Given the description of an element on the screen output the (x, y) to click on. 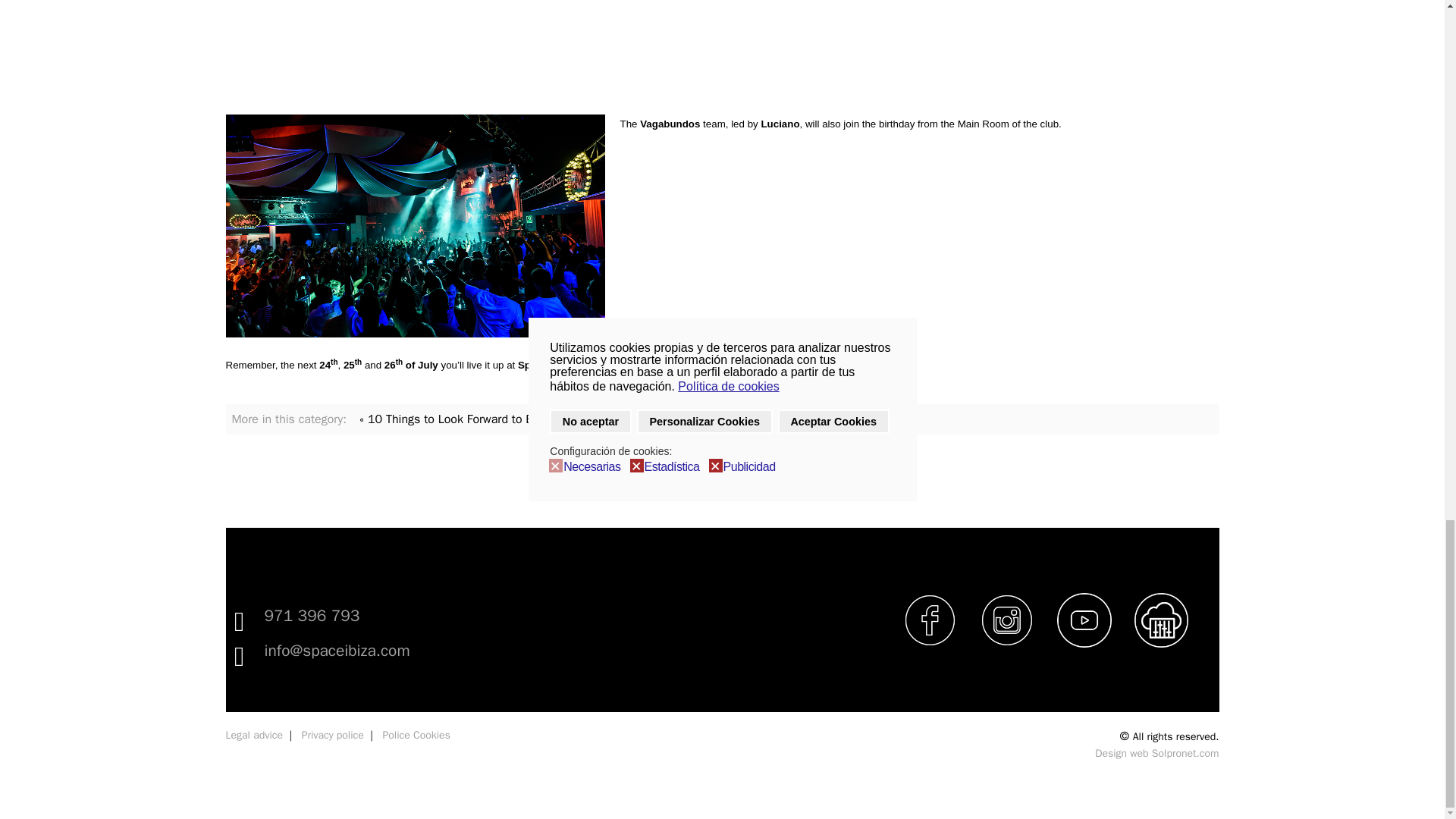
971 396 793 (311, 615)
Police Cookies (415, 735)
Buy your tickets and enjoy the WKND (662, 365)
Privacy police (332, 735)
Design web Solpronet.com (1156, 753)
Legal advice (254, 735)
